Given the description of an element on the screen output the (x, y) to click on. 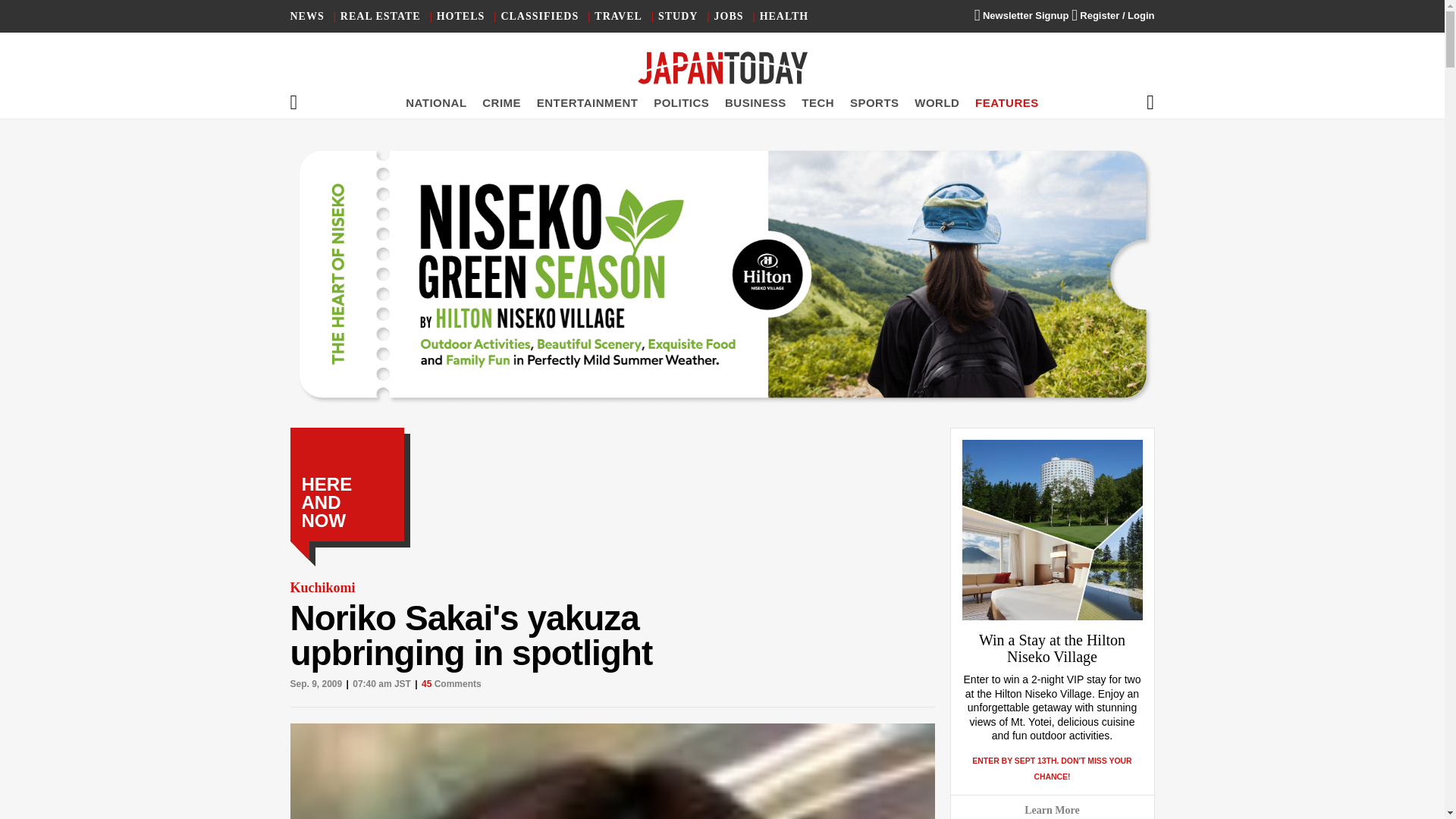
HEALTH (784, 16)
Japan Today (721, 67)
JOBS (729, 16)
REAL ESTATE (380, 16)
TECH (818, 102)
HOTELS (460, 16)
TRAVEL (618, 16)
POLITICS (681, 102)
STUDY (677, 16)
CLASSIFIEDS (539, 16)
